Given the description of an element on the screen output the (x, y) to click on. 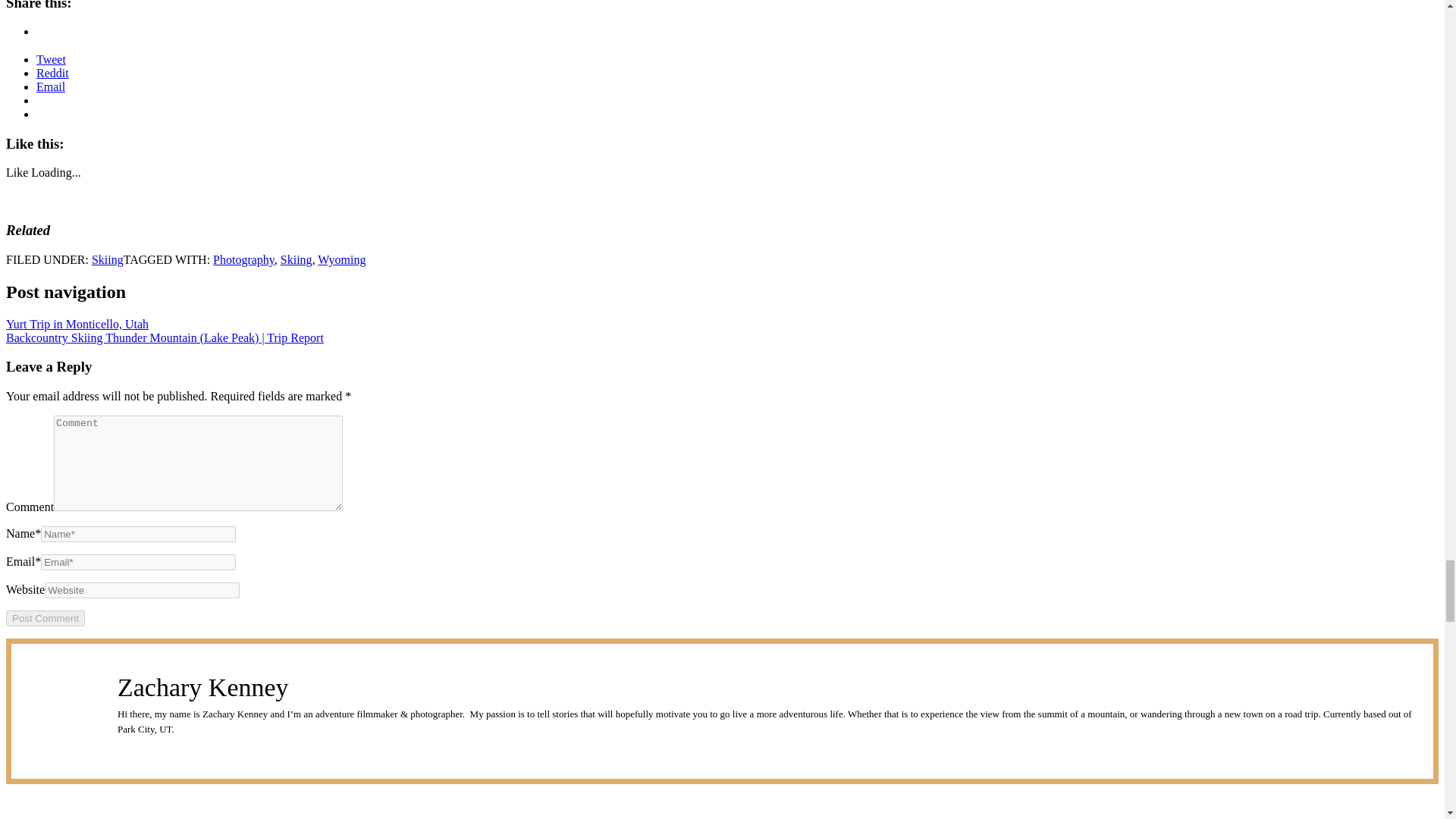
Post Comment (44, 618)
Tweet (50, 59)
Reddit (52, 72)
Email (50, 86)
Click to email a link to a friend (50, 86)
Click to share on Reddit (52, 72)
